Given the description of an element on the screen output the (x, y) to click on. 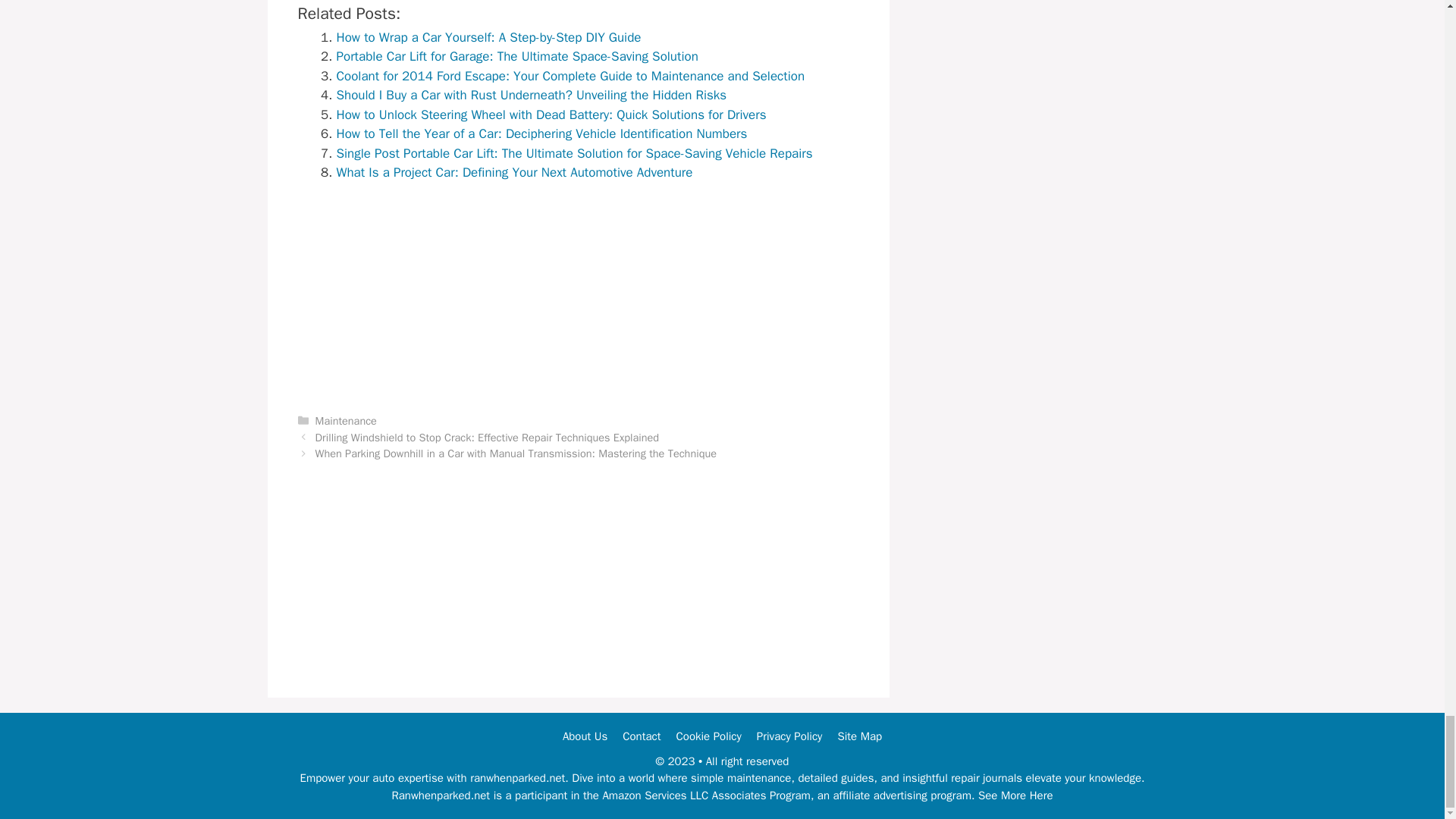
How to Wrap a Car Yourself: A Step-by-Step DIY Guide (489, 37)
